Given the description of an element on the screen output the (x, y) to click on. 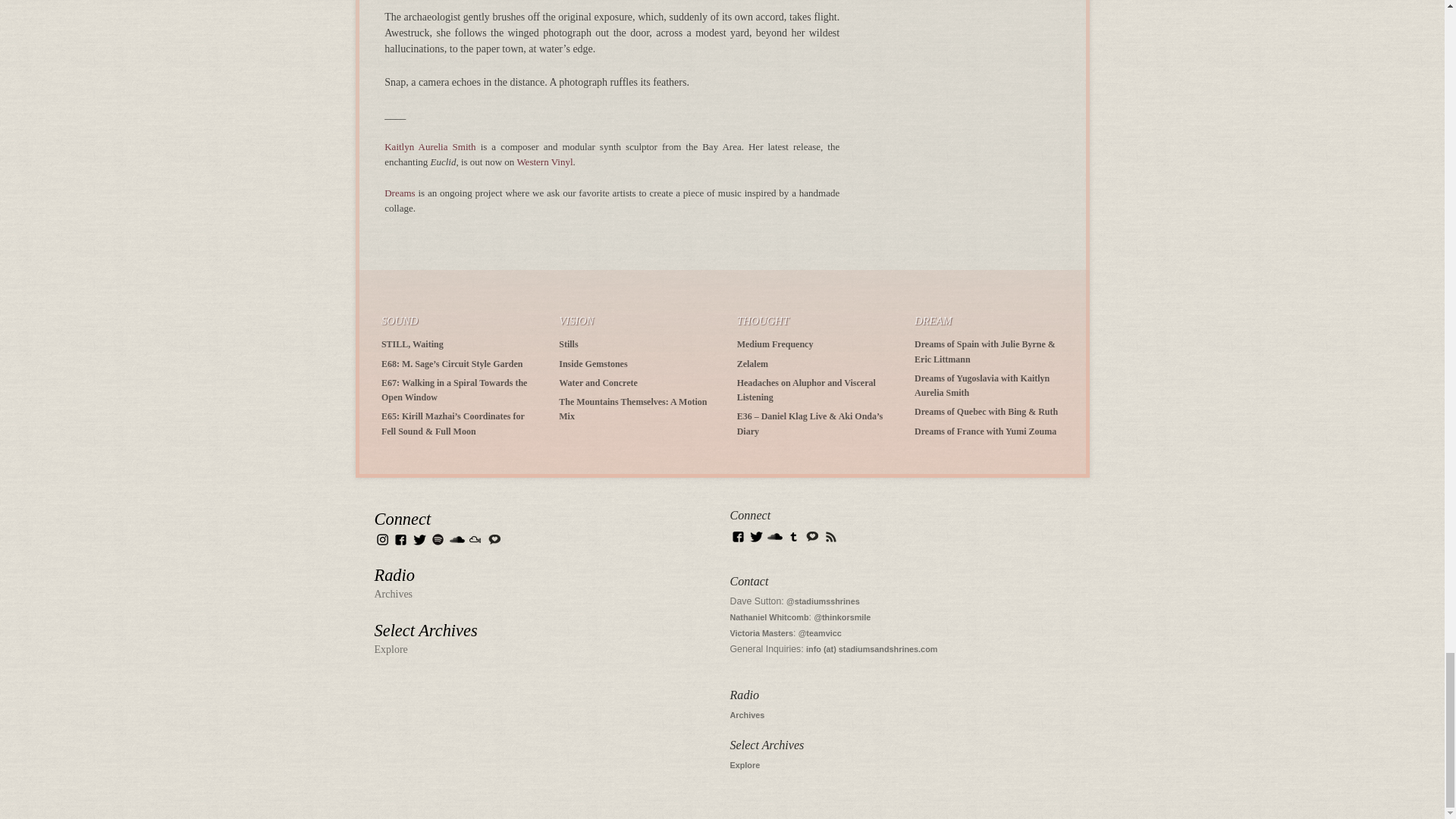
Dreams (399, 193)
Zelalem (752, 362)
E67: Walking in a Spiral Towards the Open Window (454, 389)
Dreams of Yugoslavia with Kaitlyn Aurelia Smith (981, 385)
The Mountains Themselves: A Motion Mix (632, 408)
Permanent link to Inside Gemstones (593, 362)
Dreams of France with Yumi Zouma (985, 430)
Permanent link to STILL, Waiting (412, 344)
STILL, Waiting (412, 344)
